Given the description of an element on the screen output the (x, y) to click on. 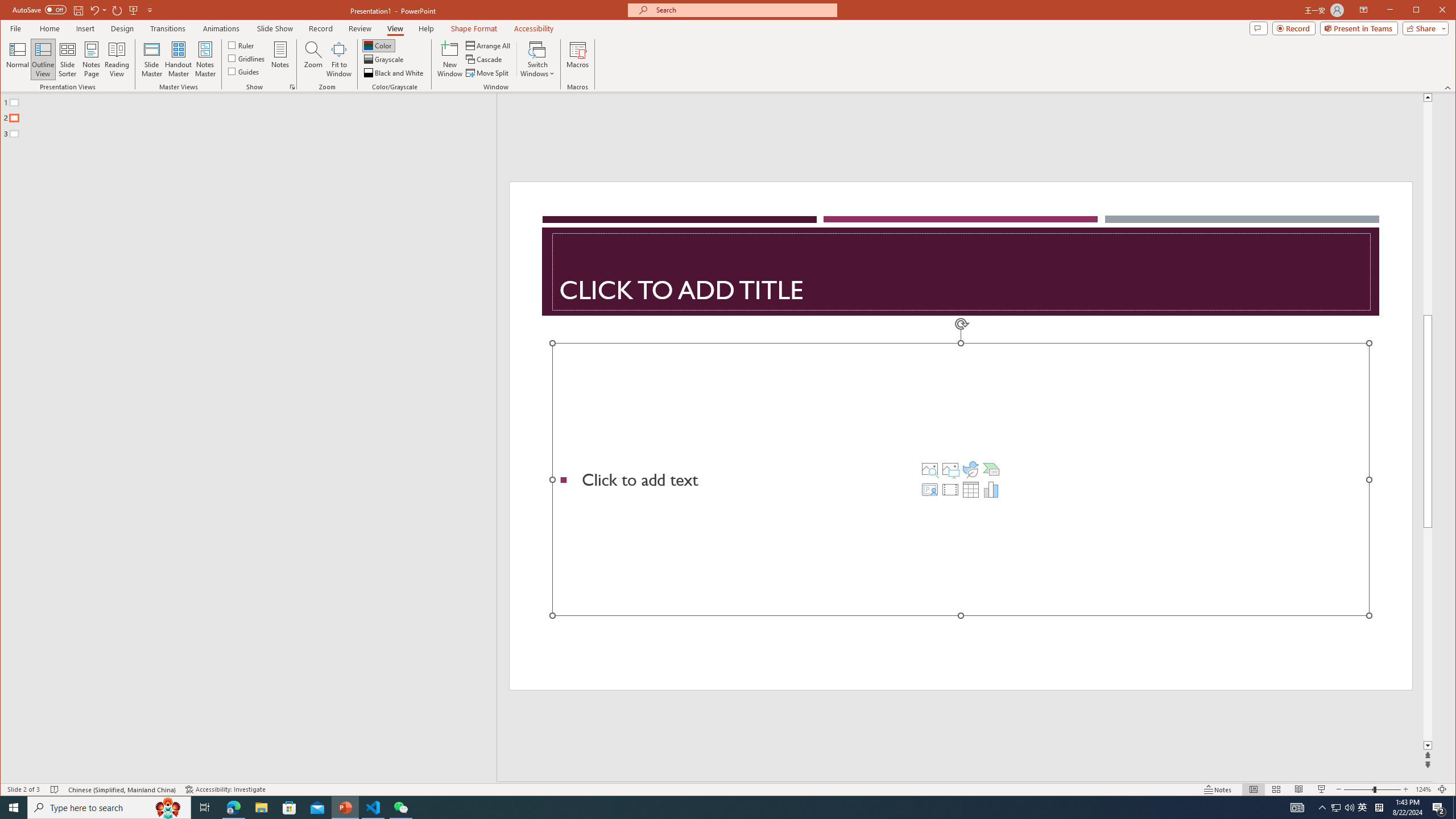
Zoom (1371, 789)
Handout Master (178, 59)
Design (122, 28)
Comments (1258, 28)
Notes Page (91, 59)
Outline (252, 115)
Insert an Icon (970, 469)
Stock Images (929, 469)
Q2790: 100% (1349, 807)
AutoSave (38, 9)
Cascade (484, 59)
System (10, 10)
Notes (279, 59)
Collapse the Ribbon (1448, 87)
